Given the description of an element on the screen output the (x, y) to click on. 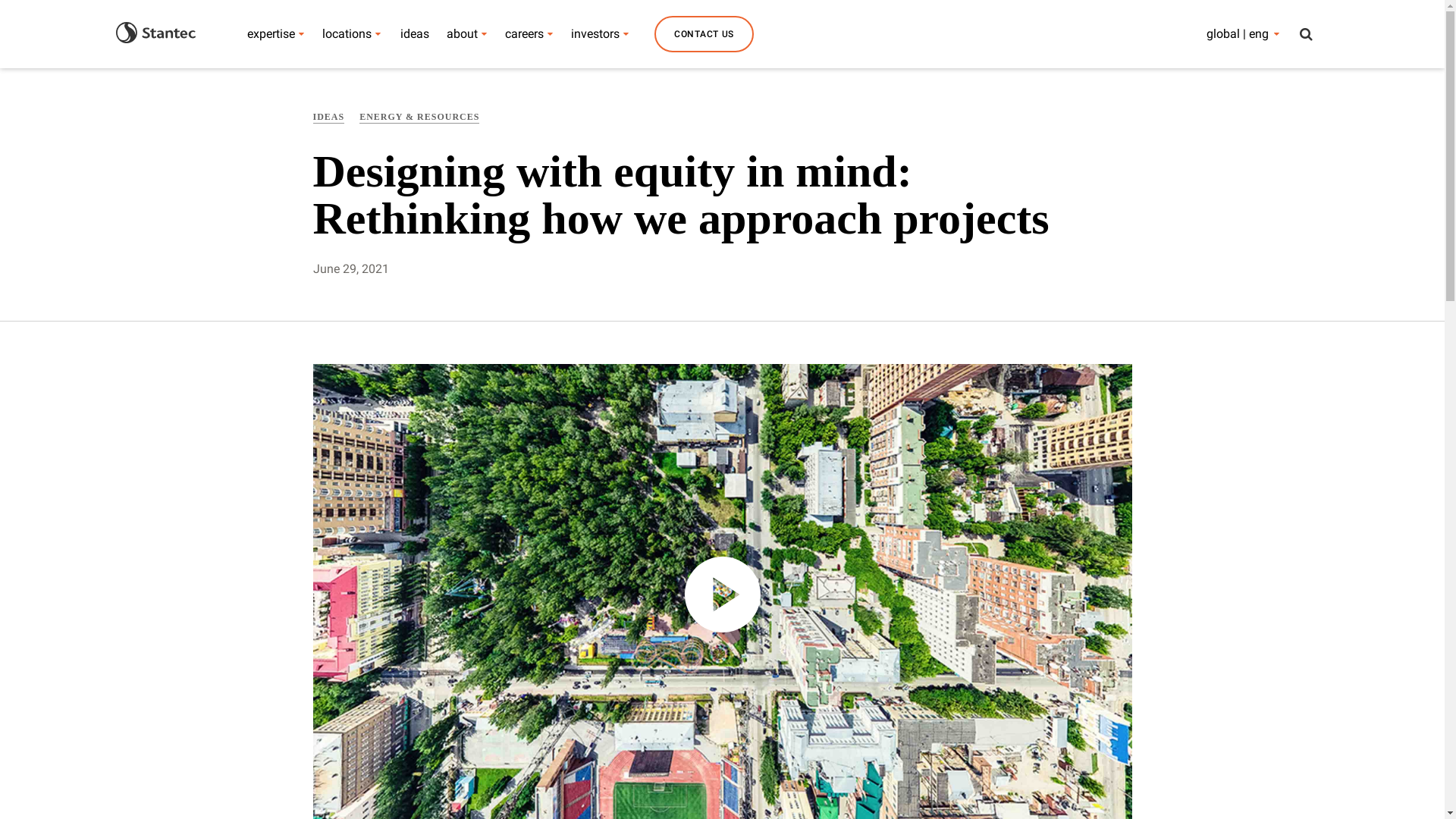
expertise (270, 33)
